Given the description of an element on the screen output the (x, y) to click on. 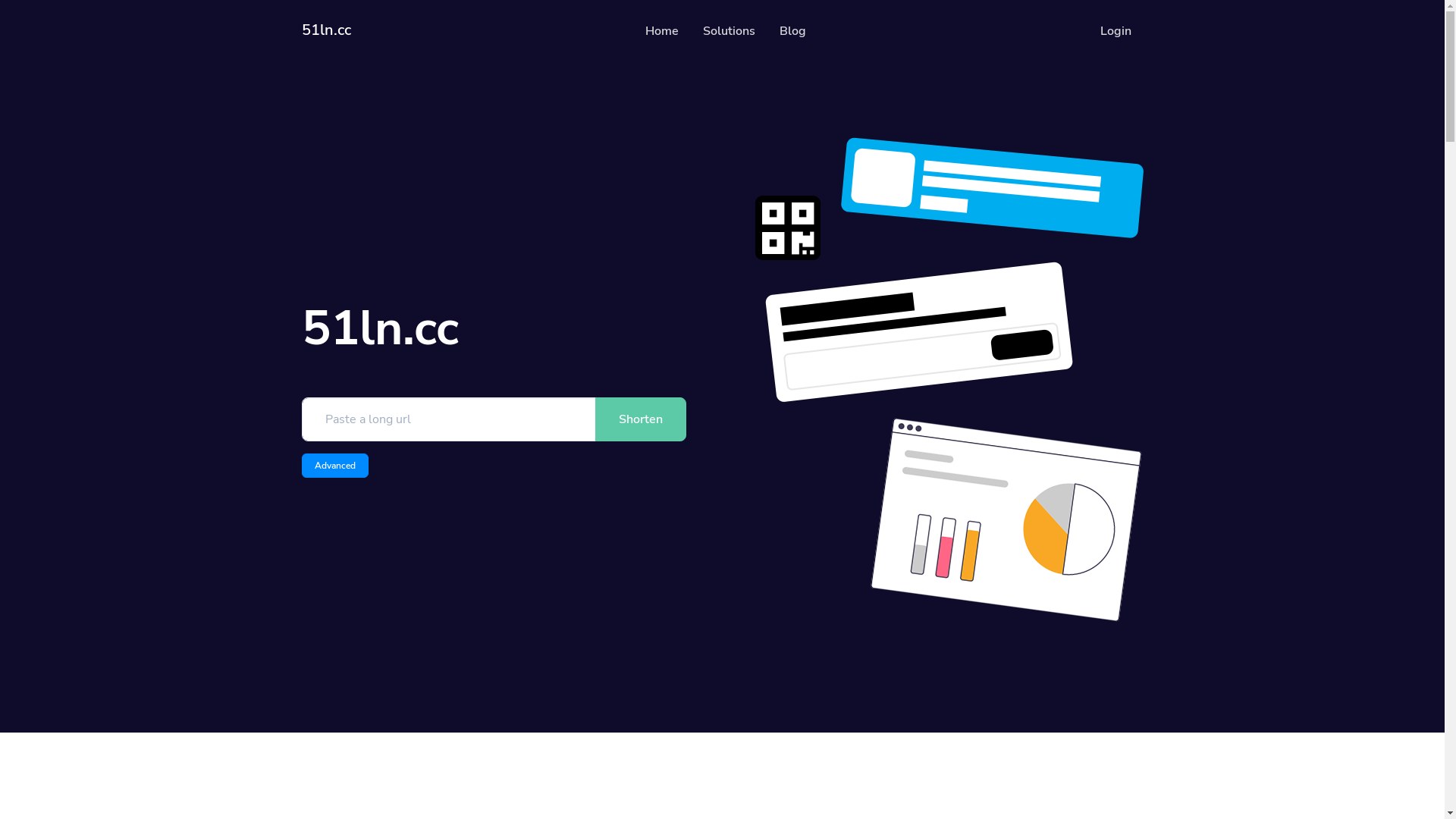
Login Element type: text (1114, 31)
Home Element type: text (661, 31)
51ln.cc Element type: text (326, 31)
Blog Element type: text (792, 31)
Solutions Element type: text (728, 31)
Advanced Element type: text (334, 465)
Shorten Element type: text (639, 419)
